Given the description of an element on the screen output the (x, y) to click on. 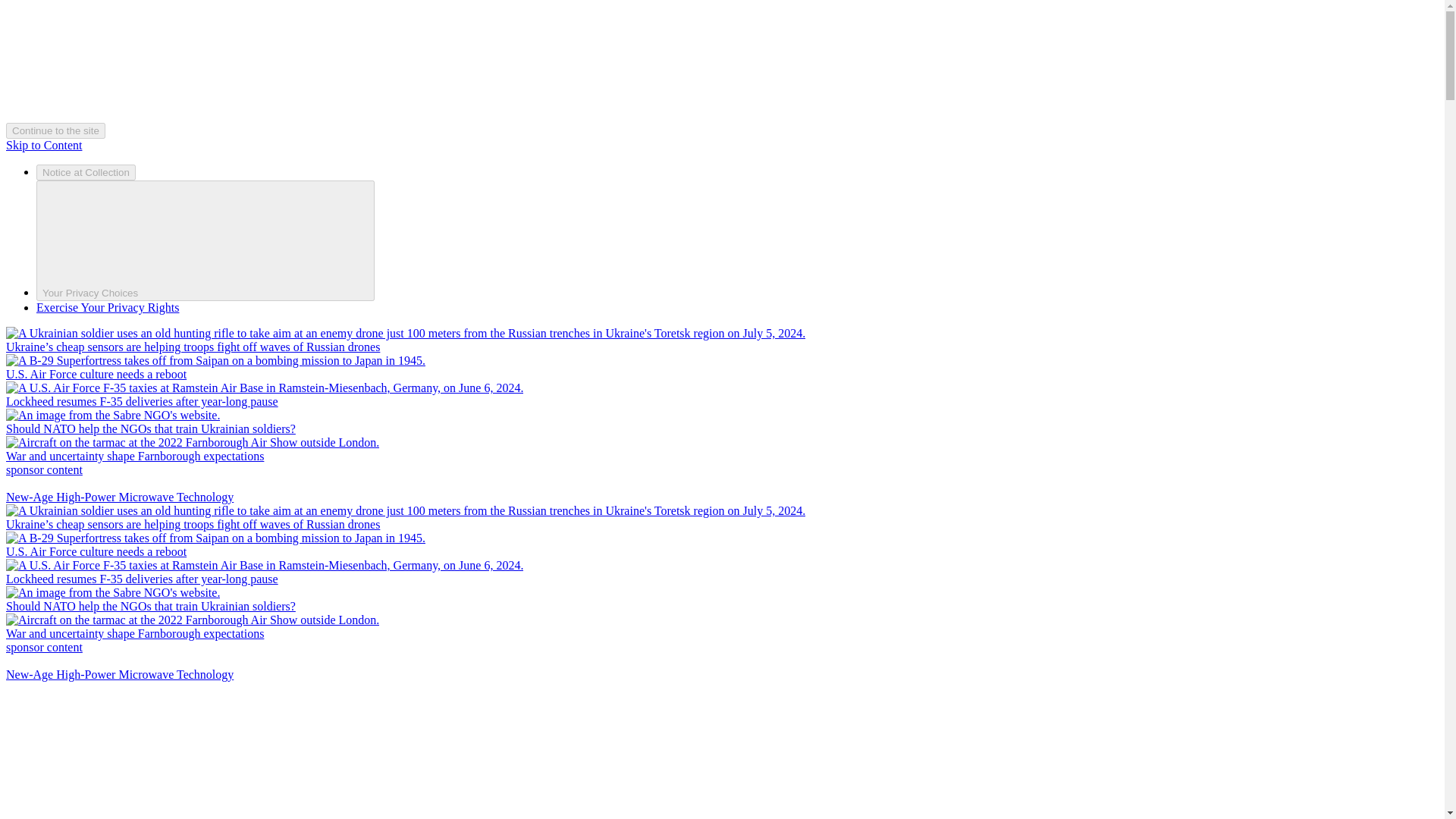
Skip to Content (43, 144)
Exercise Your Privacy Rights (107, 307)
Notice at Collection (85, 172)
Continue to the site (54, 130)
Your Privacy Choices (205, 240)
